Given the description of an element on the screen output the (x, y) to click on. 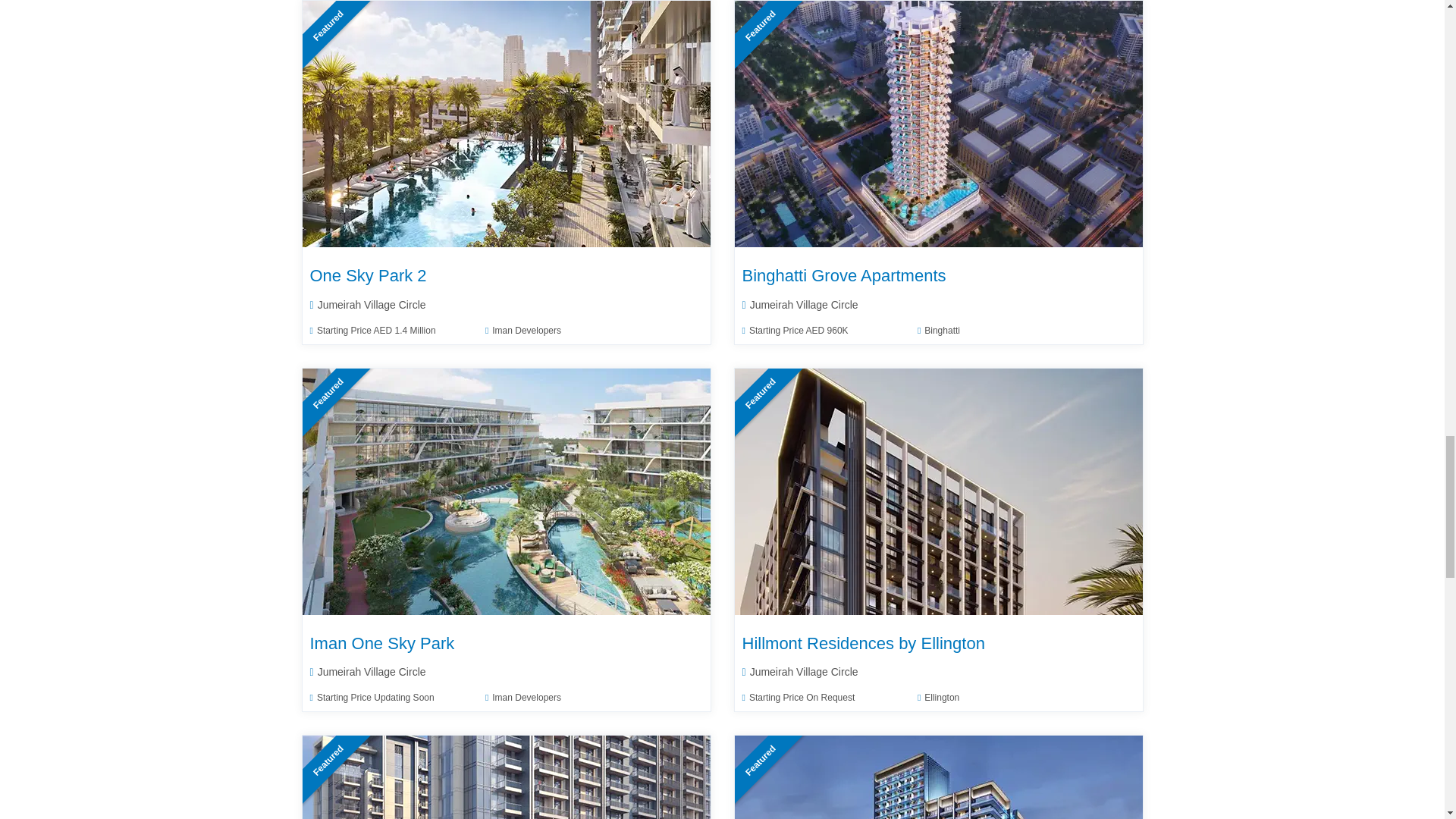
One Sky Park 2 (506, 123)
Featured (938, 123)
Jumeirah Village Circle (799, 304)
One Sky Park 2 (367, 275)
Iman One Sky Park (506, 491)
Sky Living at JVC (938, 777)
Featured (506, 123)
The Portman Apartments (506, 777)
Binghatti Grove Apartments (938, 123)
Binghatti (938, 330)
Iman Developers (522, 330)
Binghatti Grove Apartments (842, 275)
Hillmont Residences by Ellington (938, 491)
Jumeirah Village Circle (366, 304)
